Given the description of an element on the screen output the (x, y) to click on. 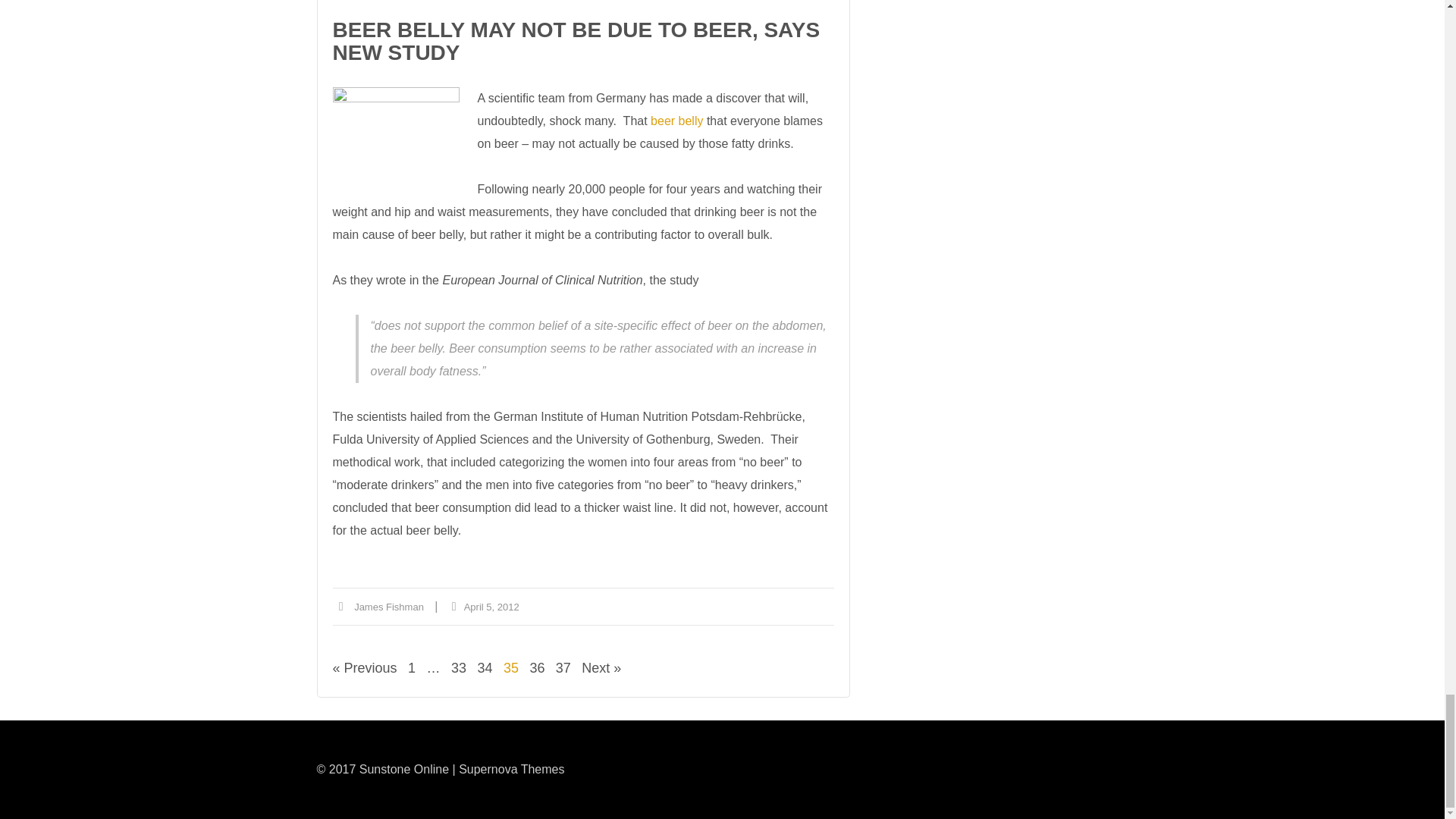
beer belly (394, 142)
